Given the description of an element on the screen output the (x, y) to click on. 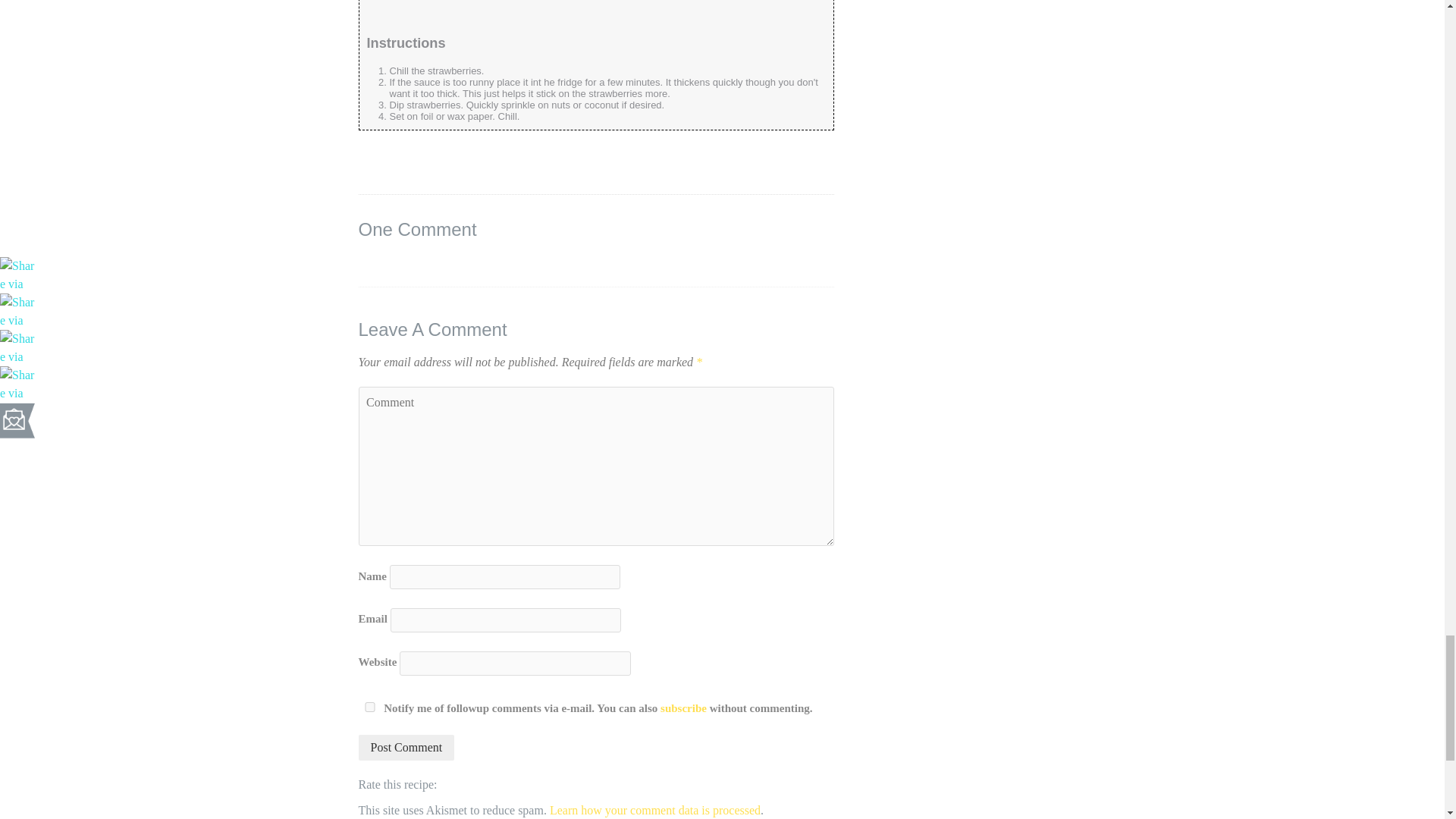
yes (369, 706)
Post Comment (406, 747)
chocolate.sauce.strawberries-s6 (485, 11)
